Given the description of an element on the screen output the (x, y) to click on. 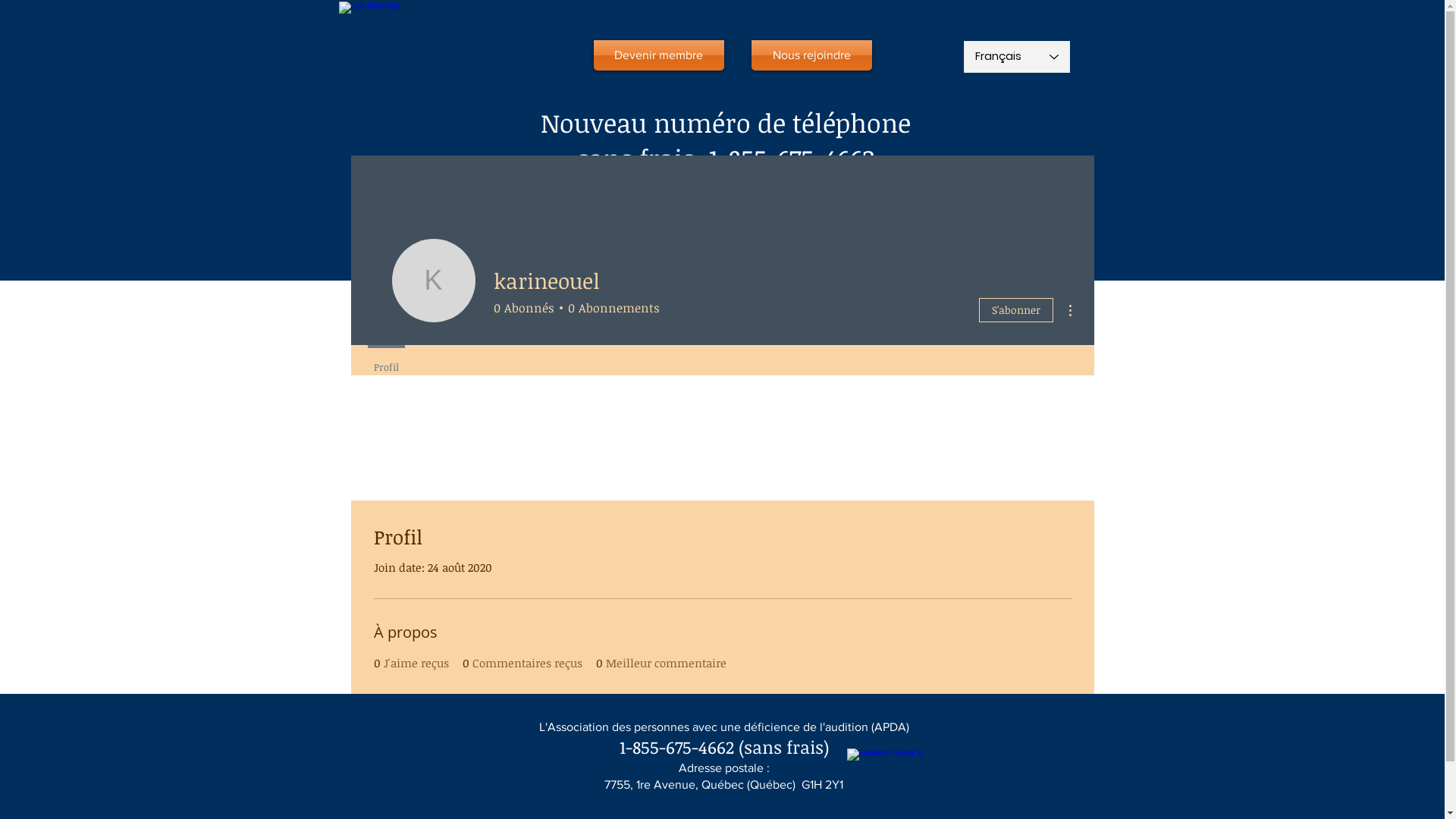
Panier
0 Element type: text (1015, 192)
0
Abonnements Element type: text (610, 307)
Nous rejoindre Element type: text (810, 55)
Profil Element type: text (385, 360)
Accueil Element type: text (420, 226)
Boutique Element type: text (1010, 226)
FAQ Element type: text (914, 226)
Devenir membre Element type: text (658, 55)
Faire un don Element type: text (810, 226)
S'abonner Element type: text (1015, 310)
